Given the description of an element on the screen output the (x, y) to click on. 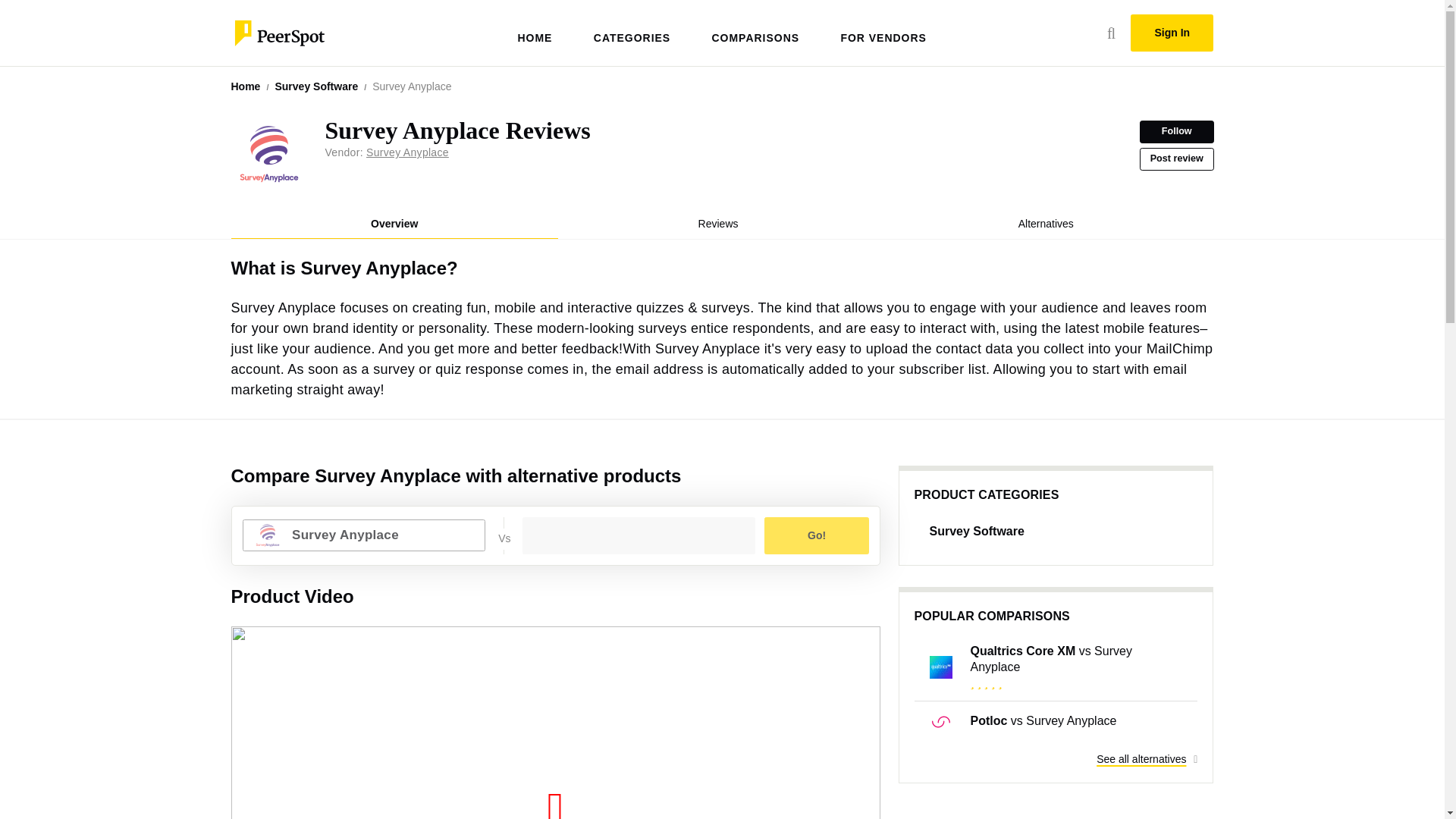
Unbiased reviews from the tech community (278, 31)
ID: 30700 (721, 224)
CATEGORIES (722, 130)
HOME (632, 25)
